Given the description of an element on the screen output the (x, y) to click on. 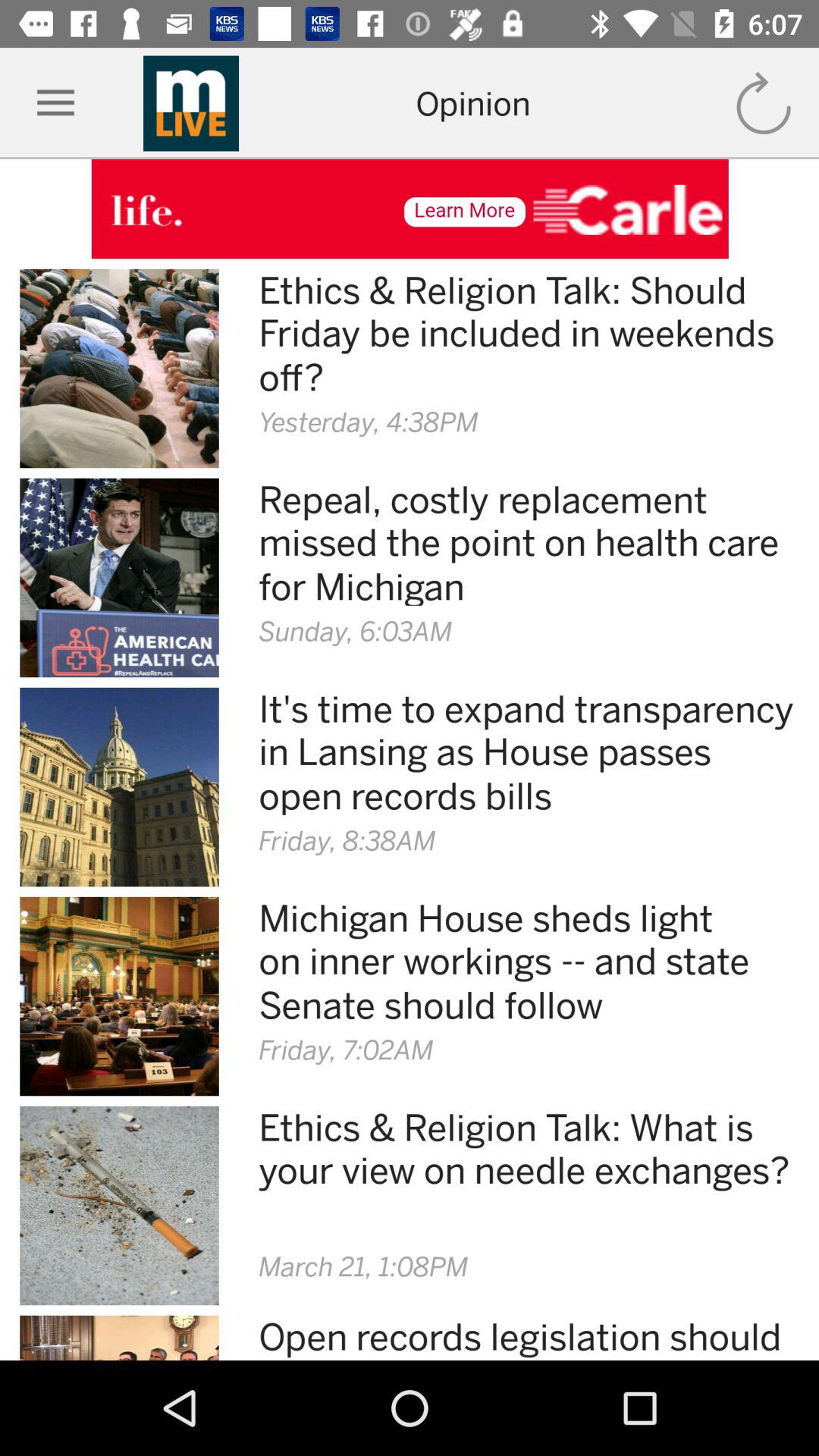
show more menu options (55, 103)
